Given the description of an element on the screen output the (x, y) to click on. 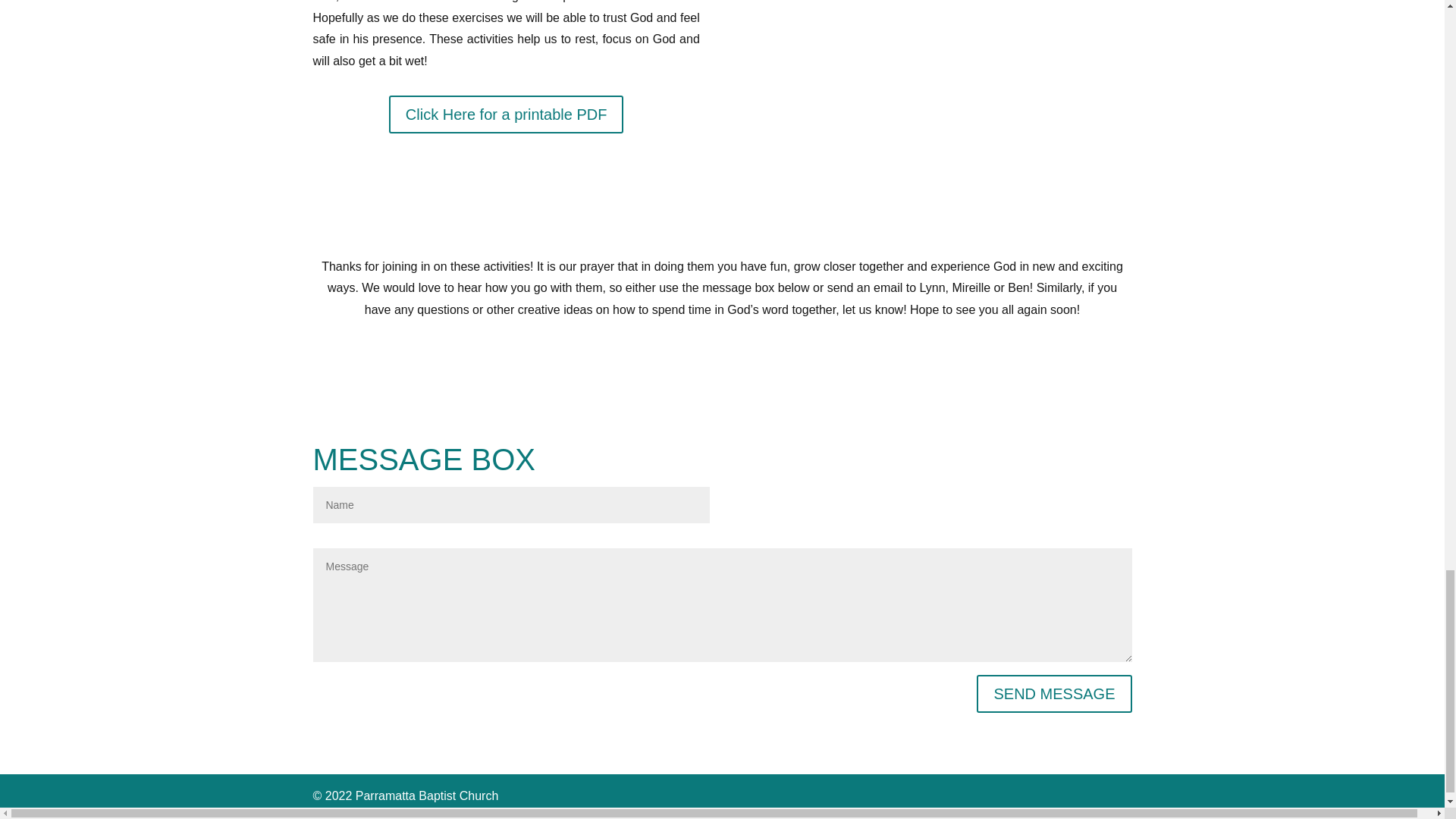
OWG 3 (937, 52)
